Given the description of an element on the screen output the (x, y) to click on. 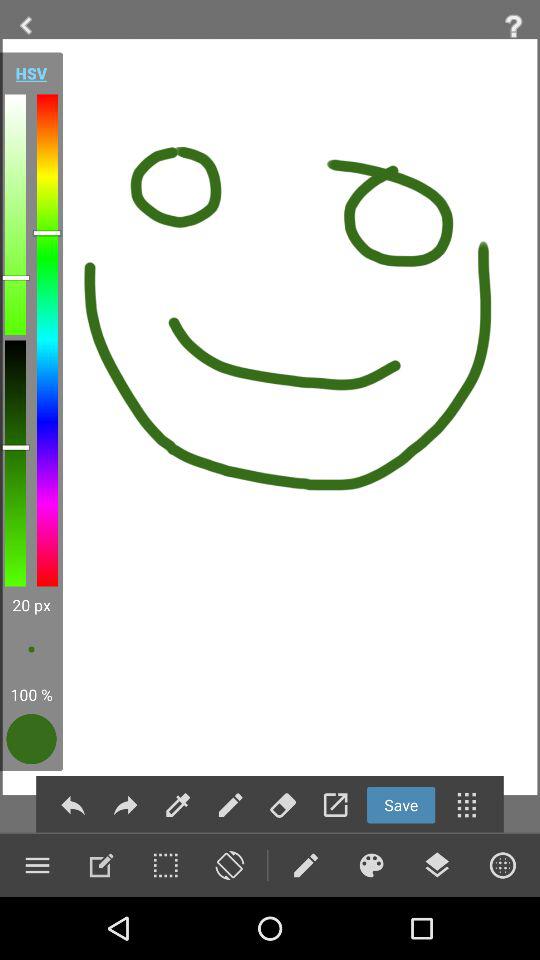
resize (165, 865)
